Given the description of an element on the screen output the (x, y) to click on. 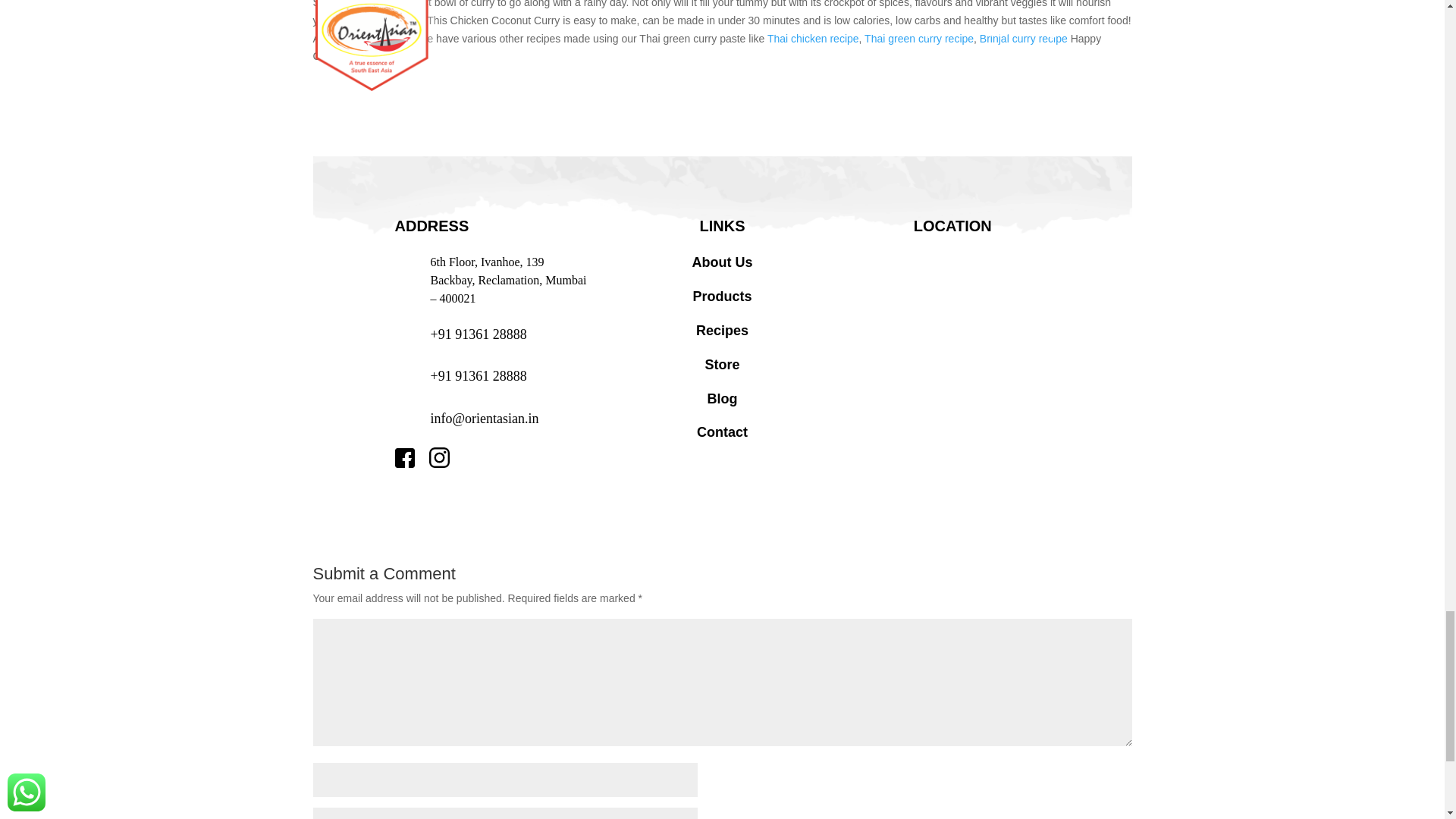
Blog (721, 398)
Thai chicken recipe (813, 37)
Contact (722, 432)
Products (722, 296)
Brinjal curry recipe (1023, 37)
About Us (721, 262)
Store (721, 364)
Recipes (721, 330)
Thai green curry recipe (919, 37)
